Given the description of an element on the screen output the (x, y) to click on. 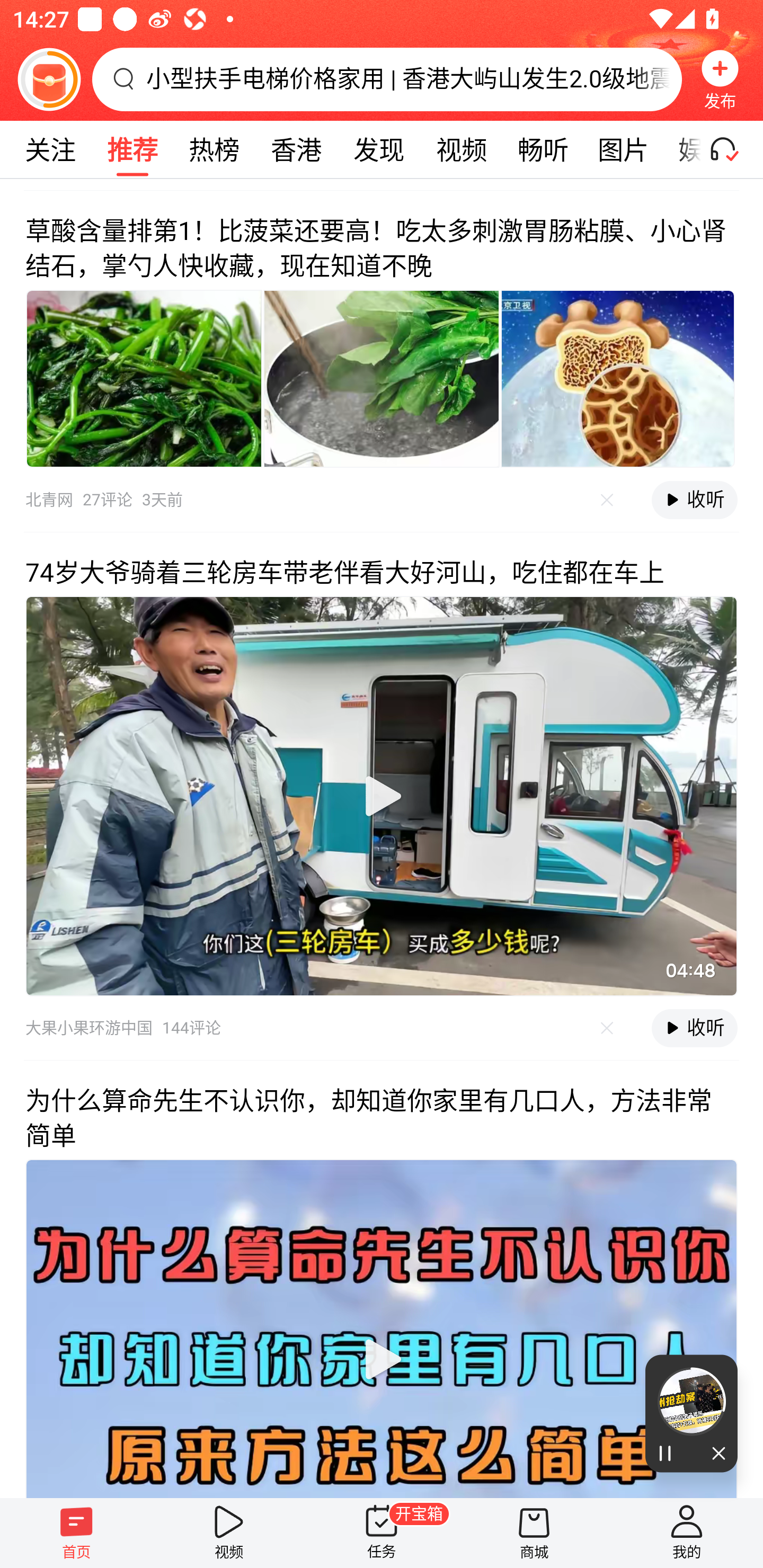
阅读赚金币 (48, 79)
发布 发布，按钮 (720, 78)
关注 (50, 149)
推荐 (132, 149)
热榜 (213, 149)
香港 (295, 149)
发现 (378, 149)
视频 (461, 149)
畅听 (542, 149)
图片 (623, 149)
听一听开关 (732, 149)
内容图片 (143, 378)
内容图片 (381, 378)
内容图片 (617, 378)
收听 (694, 500)
不感兴趣 (607, 499)
播放视频 视频播放器，双击屏幕打开播放控制 (381, 795)
播放视频 (381, 795)
收听 (694, 1028)
不感兴趣 (607, 1028)
播放视频 视频播放器，双击屏幕打开播放控制 (381, 1327)
播放视频 (381, 1359)
当前进度 29% 暂停 关闭 (691, 1413)
暂停 (668, 1454)
关闭 (714, 1454)
首页 (76, 1532)
视频 (228, 1532)
任务 开宝箱 (381, 1532)
商城 (533, 1532)
我的 (686, 1532)
